Given the description of an element on the screen output the (x, y) to click on. 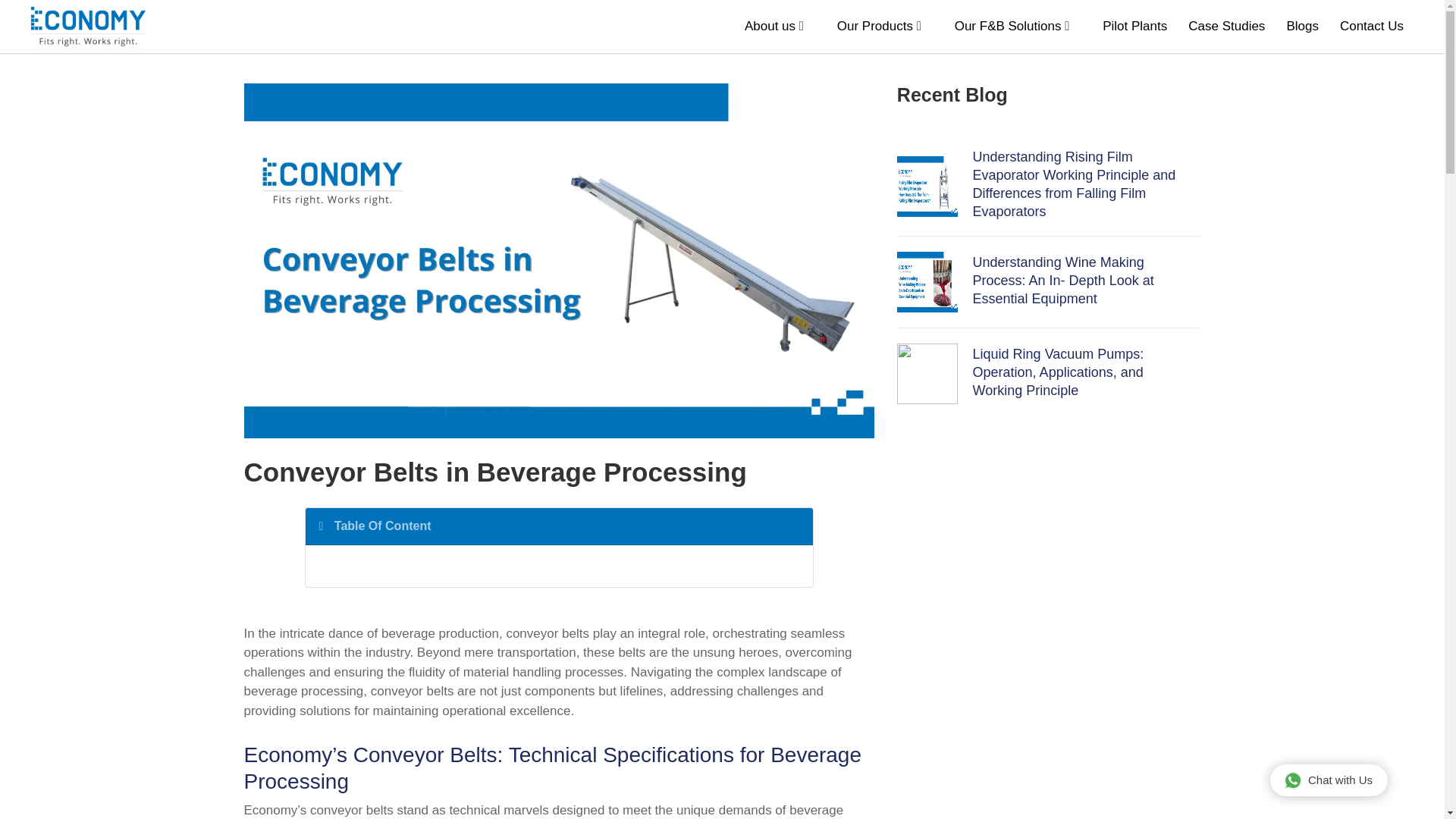
Show Chat (1328, 780)
About us (769, 25)
Our Products (874, 25)
